Given the description of an element on the screen output the (x, y) to click on. 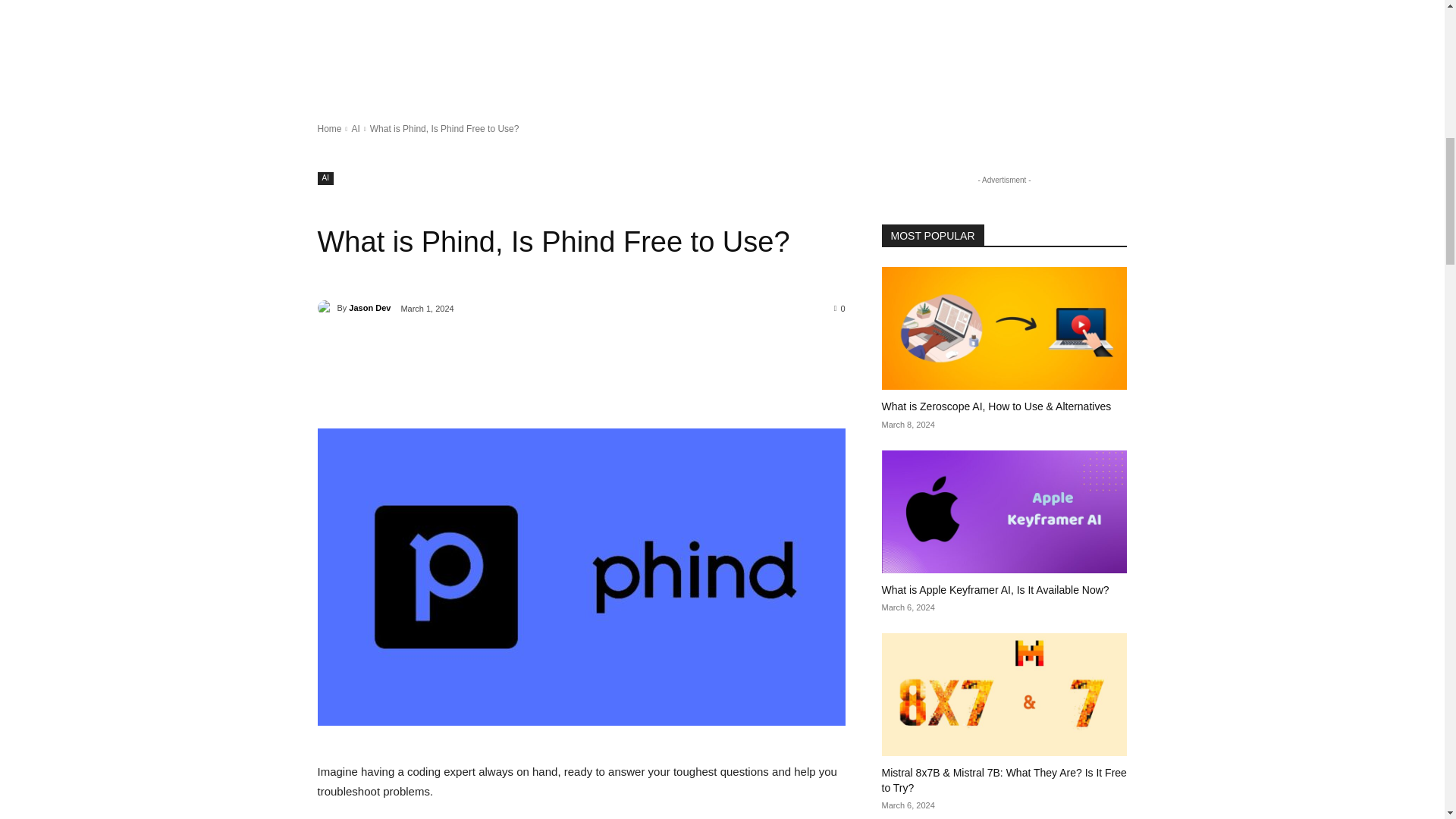
Jason Dev (369, 307)
Home (328, 128)
Jason Dev (326, 307)
Advertisement (455, 49)
0 (839, 307)
AI (325, 178)
